Given the description of an element on the screen output the (x, y) to click on. 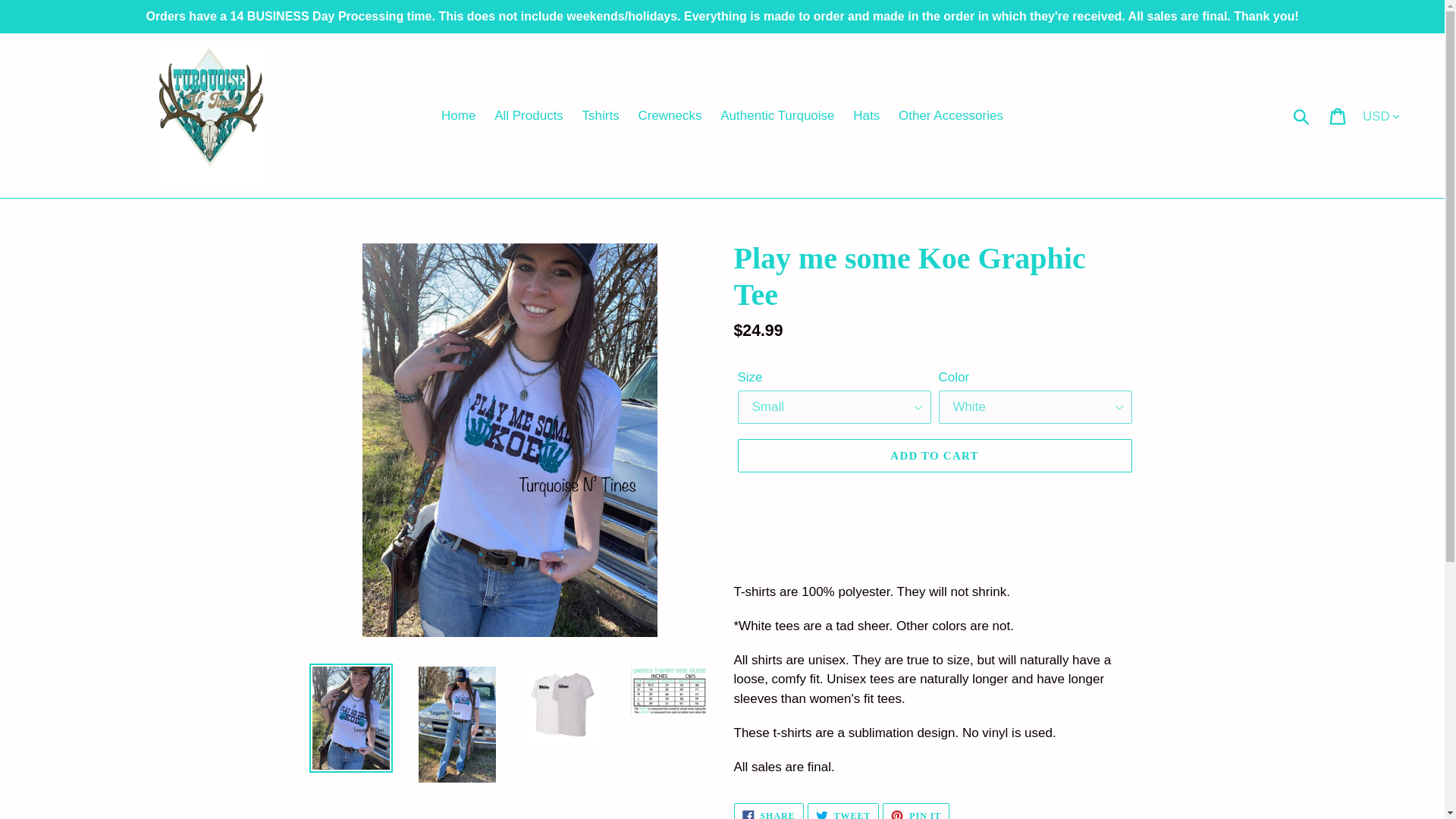
Tshirts (601, 115)
All Products (528, 115)
Home (458, 115)
Cart (1338, 115)
Hats (843, 811)
ADD TO CART (865, 115)
Other Accessories (933, 455)
Authentic Turquoise (950, 115)
Crewnecks (777, 115)
